Given the description of an element on the screen output the (x, y) to click on. 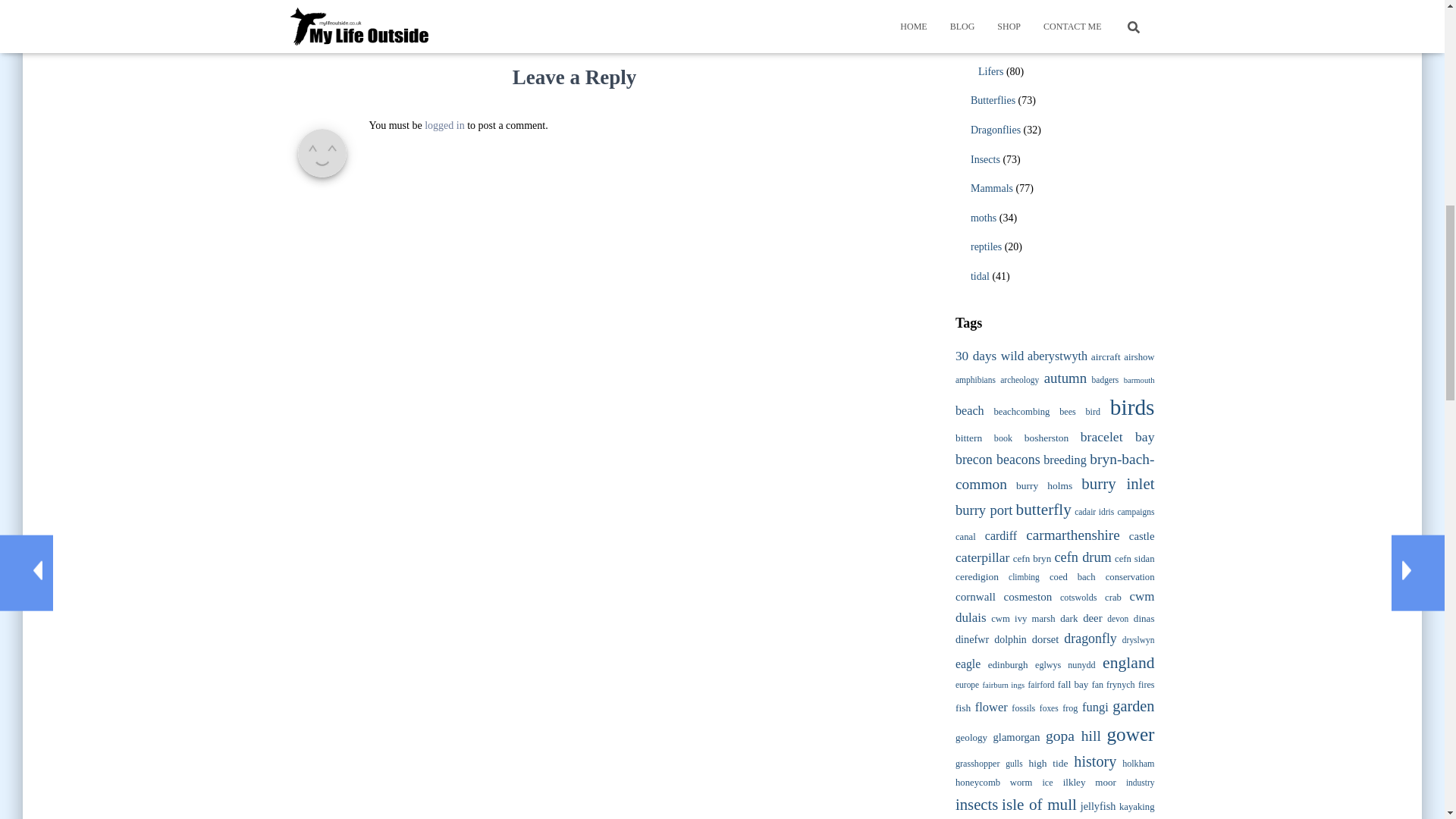
Wildlife (979, 20)
logged in (444, 125)
Dragonflies (995, 129)
Butterflies (992, 100)
Insects (985, 159)
Lifers (990, 71)
Birds (981, 45)
